Given the description of an element on the screen output the (x, y) to click on. 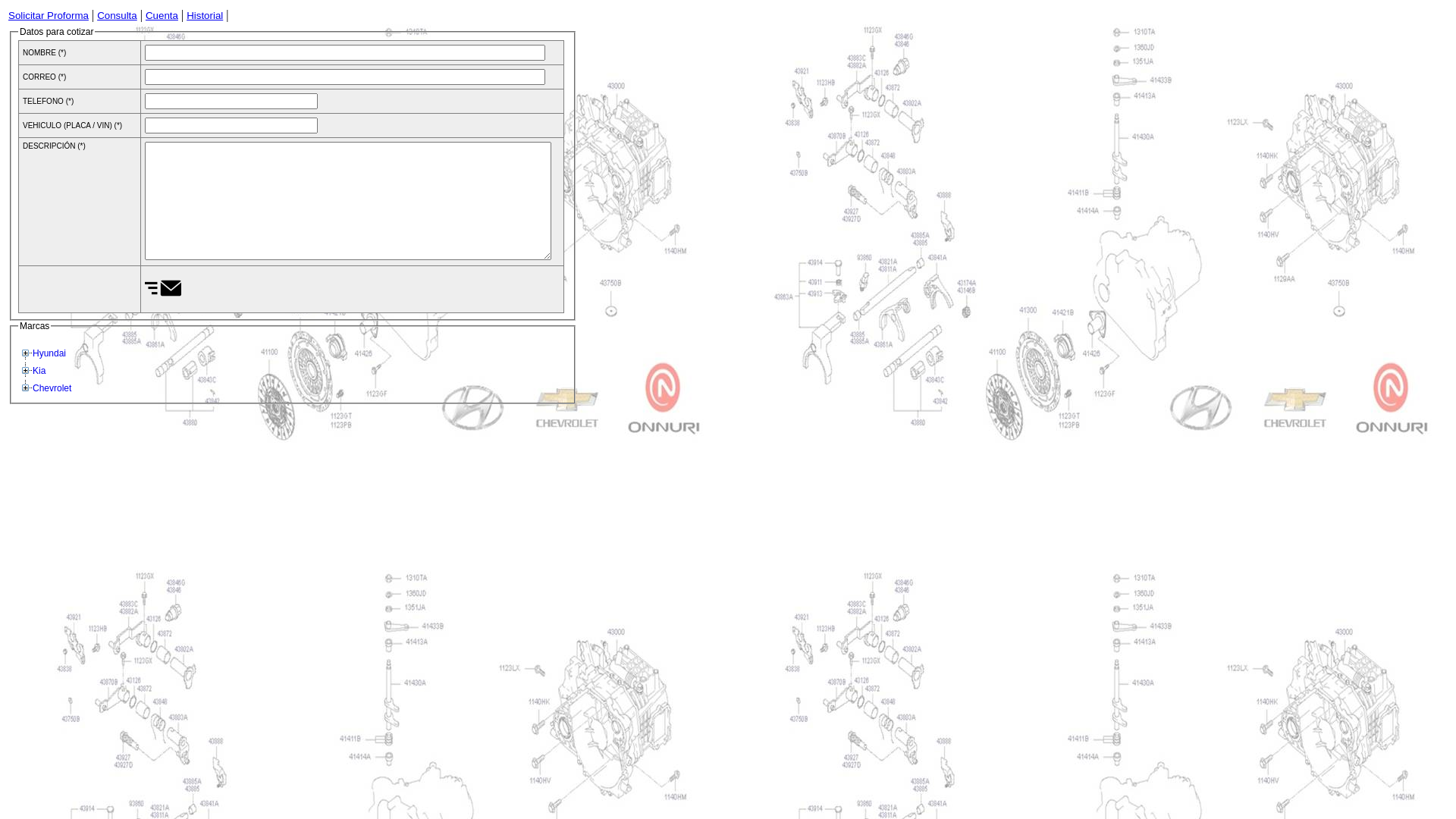
Historial Element type: text (204, 15)
Enviar Element type: hover (162, 287)
Detalle Element type: hover (347, 200)
Kia Element type: text (38, 370)
Nombre Element type: hover (344, 52)
Cuenta Element type: text (161, 15)
Consulta Element type: text (117, 15)
Solicitar Proforma Element type: text (48, 15)
Hyundai Element type: text (48, 353)
Correo Element type: hover (344, 76)
Chevrolet Element type: text (51, 387)
